Given the description of an element on the screen output the (x, y) to click on. 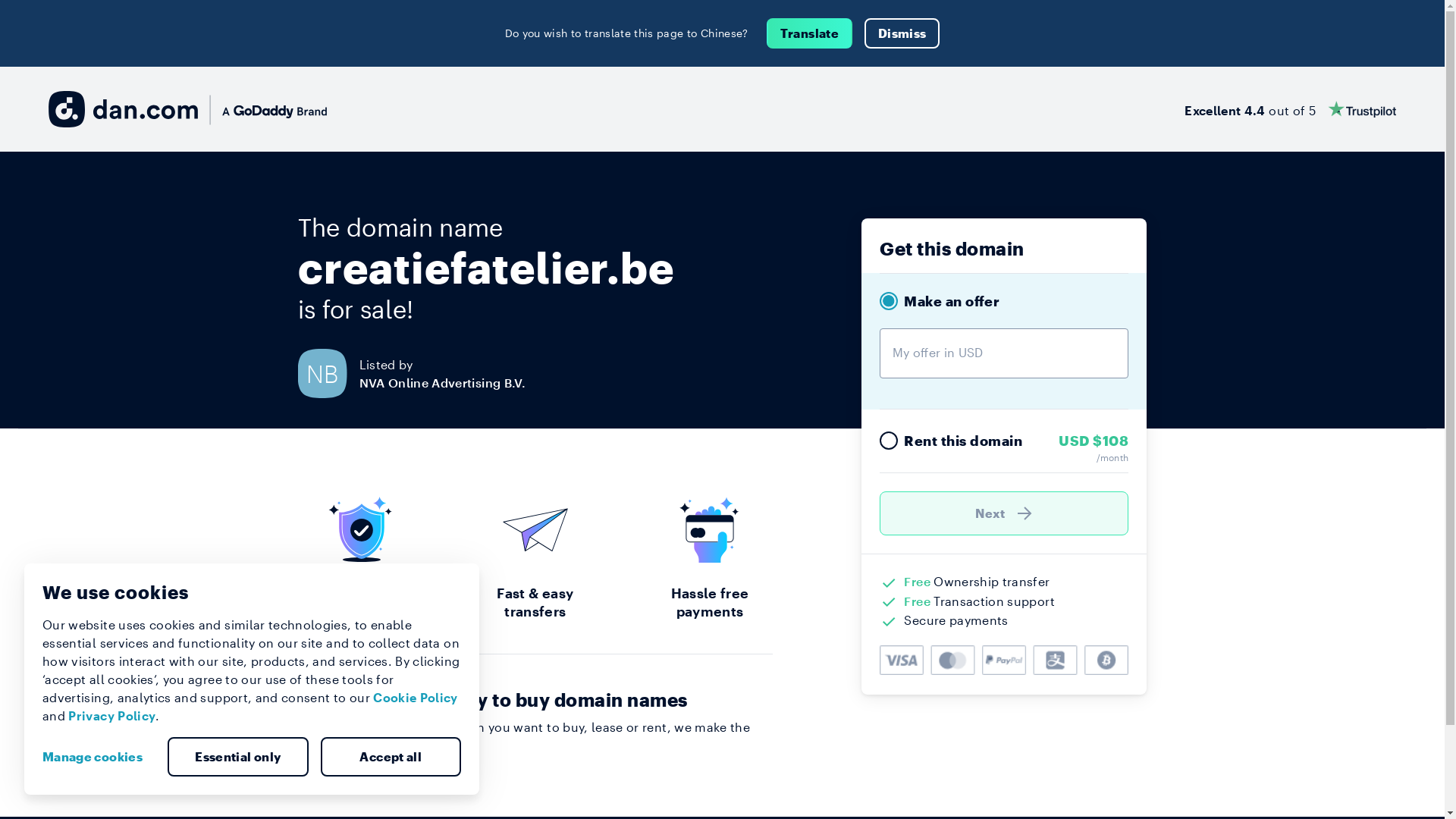
Dismiss Element type: text (901, 33)
Privacy Policy Element type: text (111, 715)
Translate Element type: text (809, 33)
Essential only Element type: text (237, 756)
Manage cookies Element type: text (98, 756)
Cookie Policy Element type: text (415, 697)
Excellent 4.4 out of 5 Element type: text (1290, 109)
Next
) Element type: text (1003, 513)
Accept all Element type: text (390, 756)
